Given the description of an element on the screen output the (x, y) to click on. 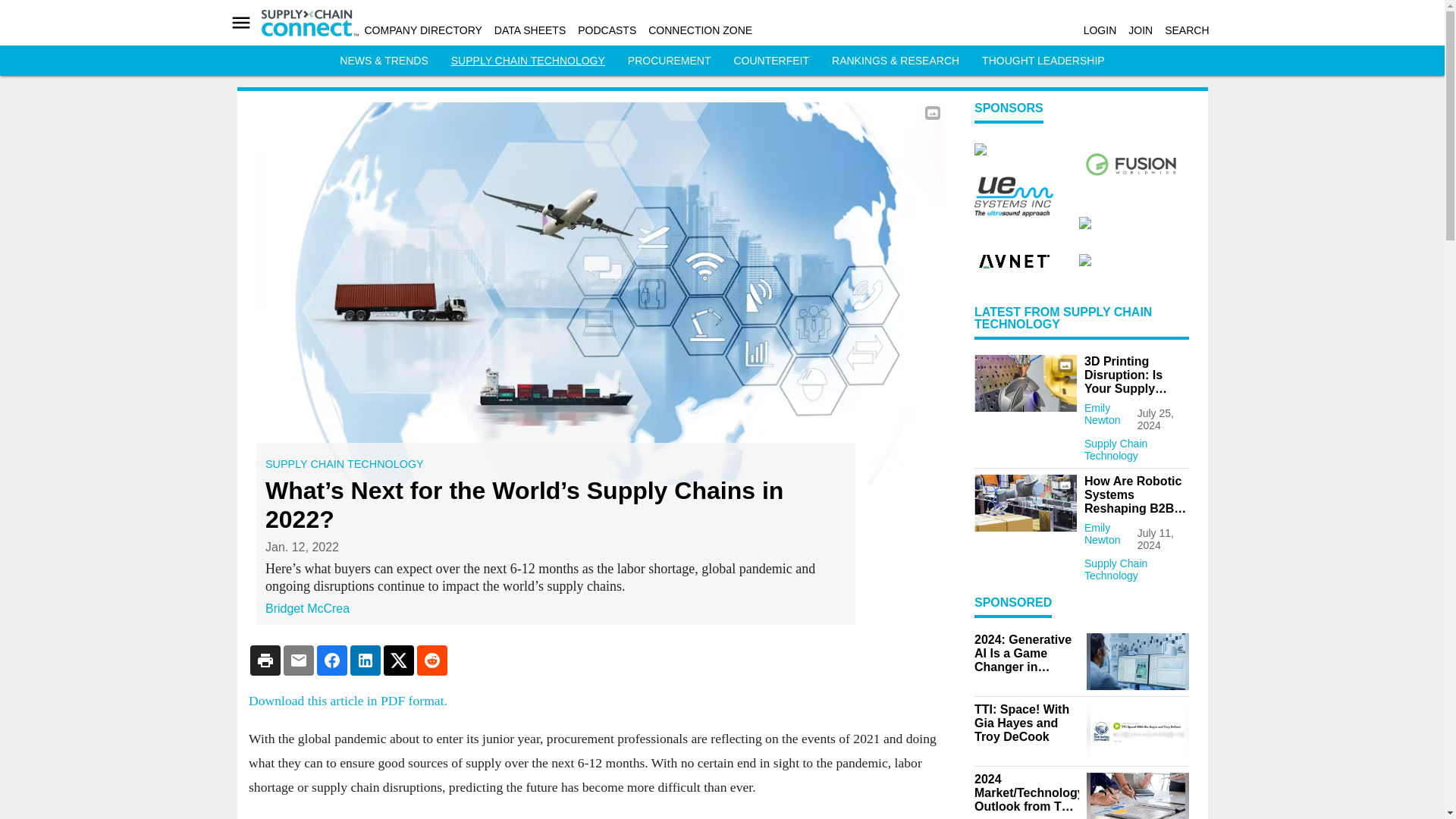
PROCUREMENT (669, 60)
COUNTERFEIT (771, 60)
CONNECTION ZONE (699, 30)
Download this article in PDF format. (347, 700)
Bridget McCrea (306, 608)
LOGIN (1099, 30)
JOIN (1140, 30)
SUPPLY CHAIN TECHNOLOGY (343, 463)
DATA SHEETS (530, 30)
